Given the description of an element on the screen output the (x, y) to click on. 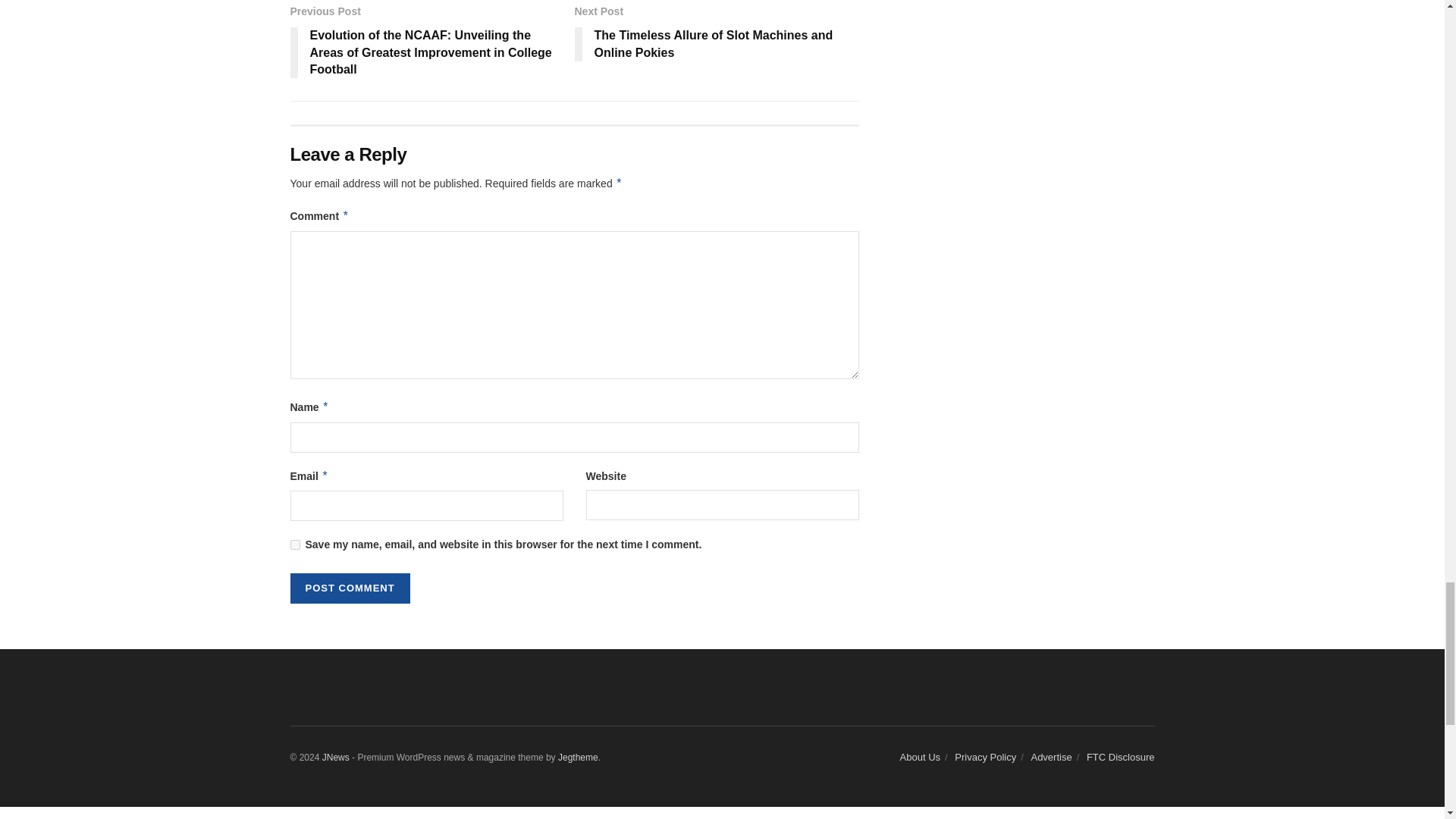
Post Comment (349, 588)
yes (294, 544)
Jegtheme (577, 757)
